Given the description of an element on the screen output the (x, y) to click on. 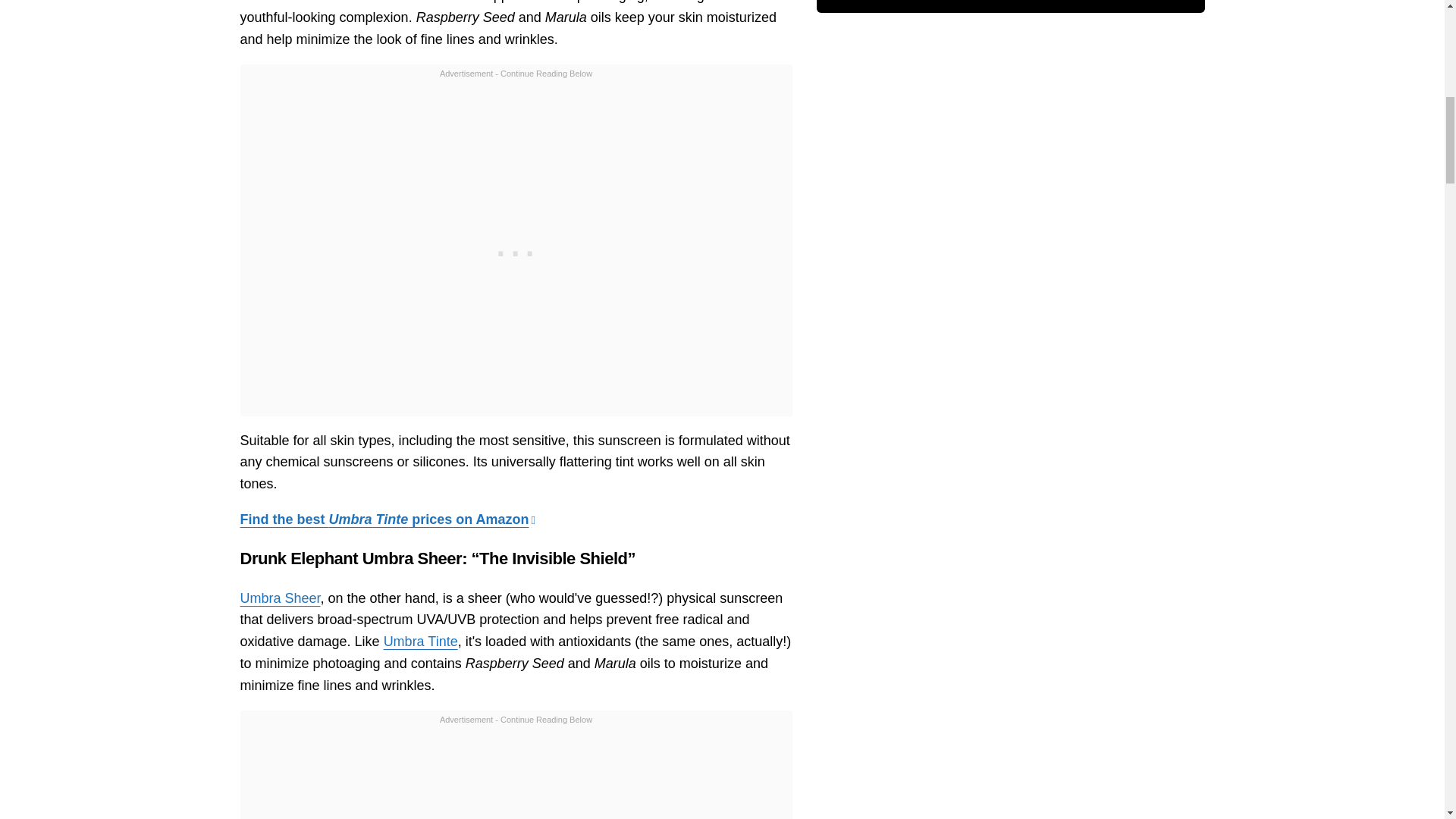
Find the best Umbra Tinte prices on Amazon (387, 519)
Umbra Sheer (280, 598)
Umbra Tinte (421, 641)
